Given the description of an element on the screen output the (x, y) to click on. 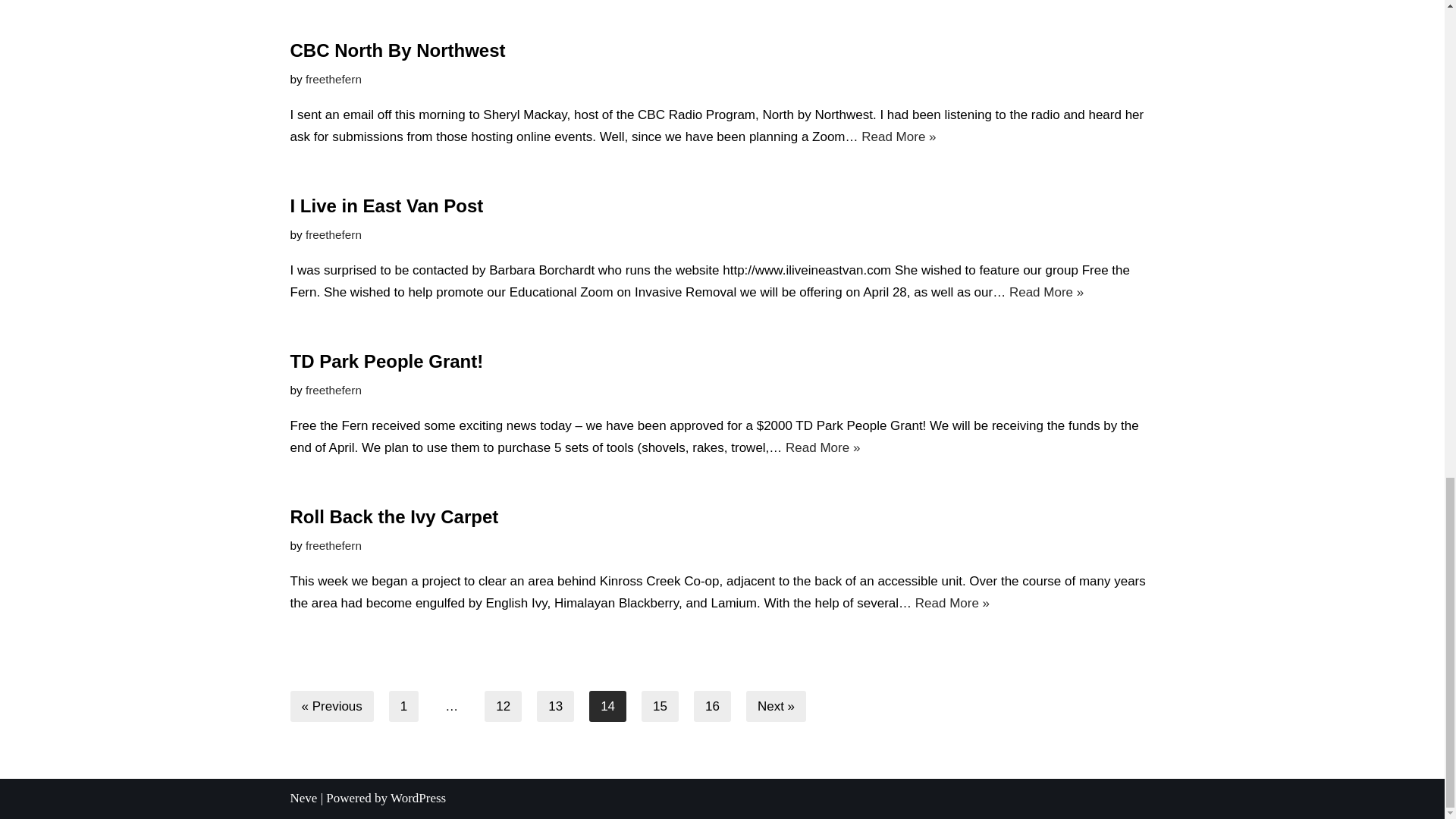
Posts by freethefern (333, 545)
Posts by freethefern (333, 390)
Posts by freethefern (333, 234)
Posts by freethefern (333, 78)
